Given the description of an element on the screen output the (x, y) to click on. 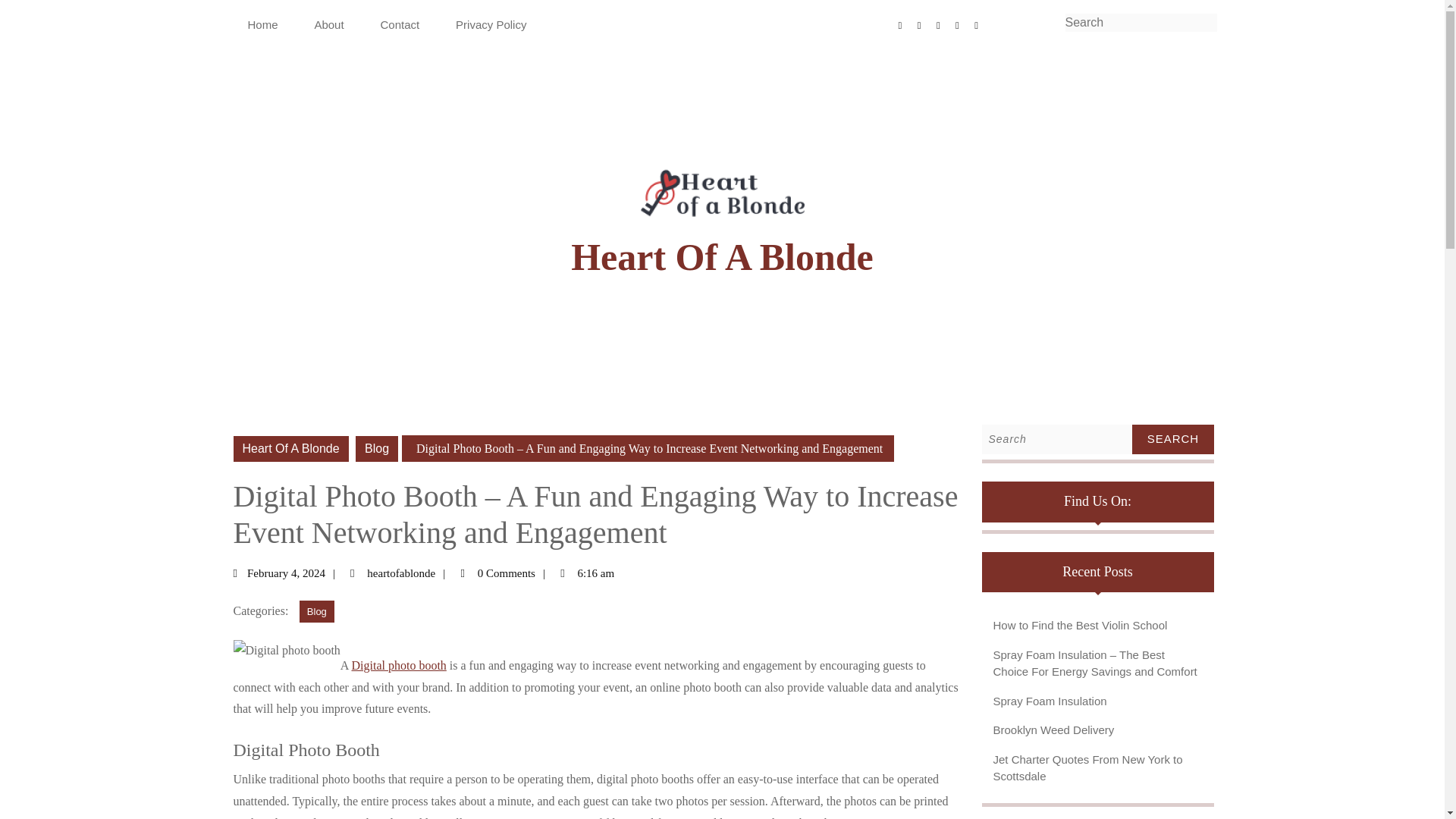
Blog (316, 611)
Search (1197, 27)
Heart Of A Blonde (290, 448)
Home (262, 25)
Youtube (982, 24)
Search (411, 572)
Instagram (1172, 439)
Blog (297, 572)
Heart Of A Blonde (944, 24)
Search (376, 448)
Twitter (721, 256)
Search (1197, 27)
Search (925, 24)
